Given the description of an element on the screen output the (x, y) to click on. 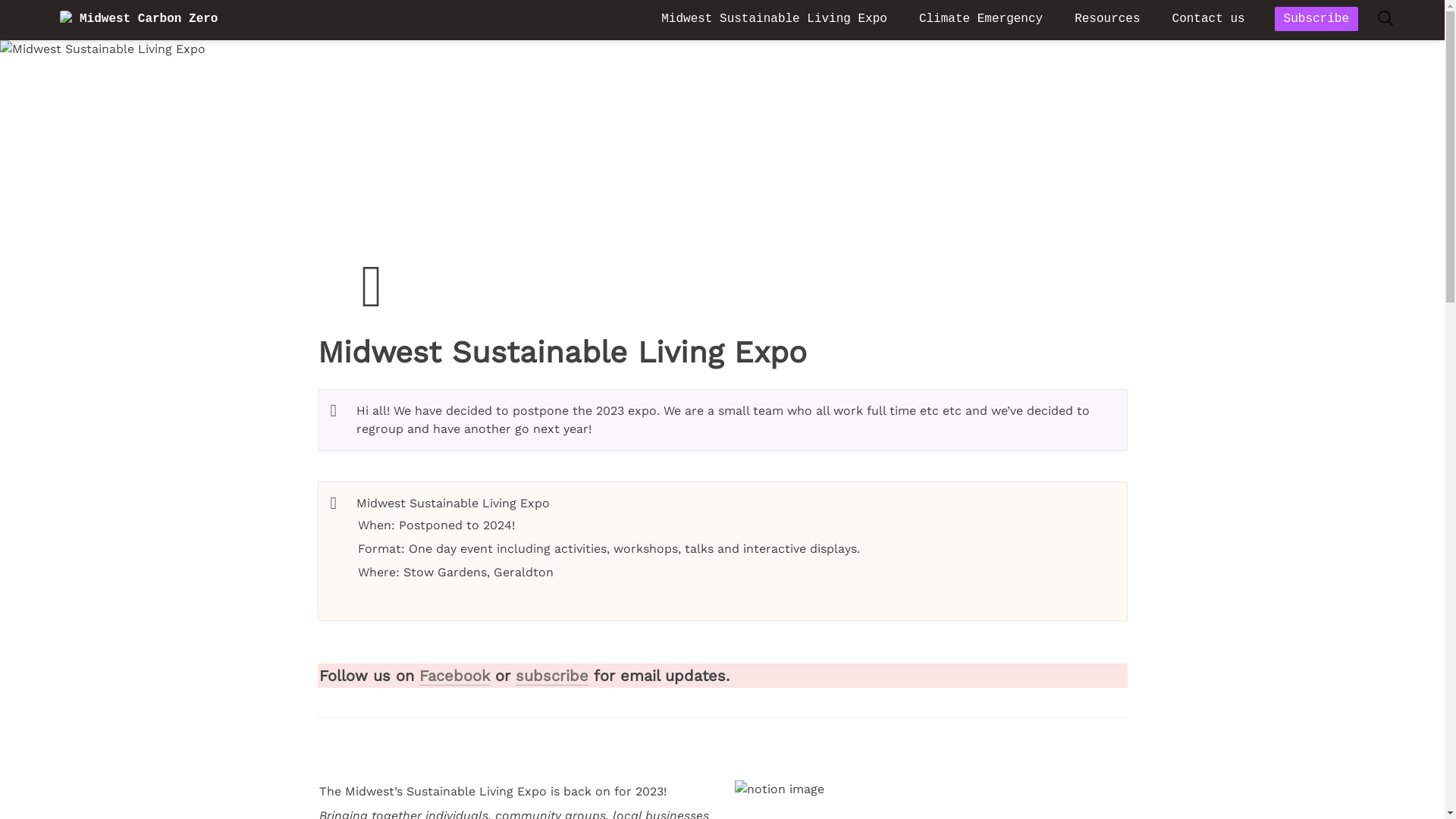
Midwest Carbon Zero Element type: text (345, 18)
Climate Emergency Element type: text (980, 18)
Subscribe Element type: text (1316, 18)
Contact us Element type: text (1208, 18)
Resources Element type: text (1107, 18)
Facebook Element type: text (453, 675)
subscribe Element type: text (551, 675)
Midwest Sustainable Living Expo Element type: text (773, 18)
